Given the description of an element on the screen output the (x, y) to click on. 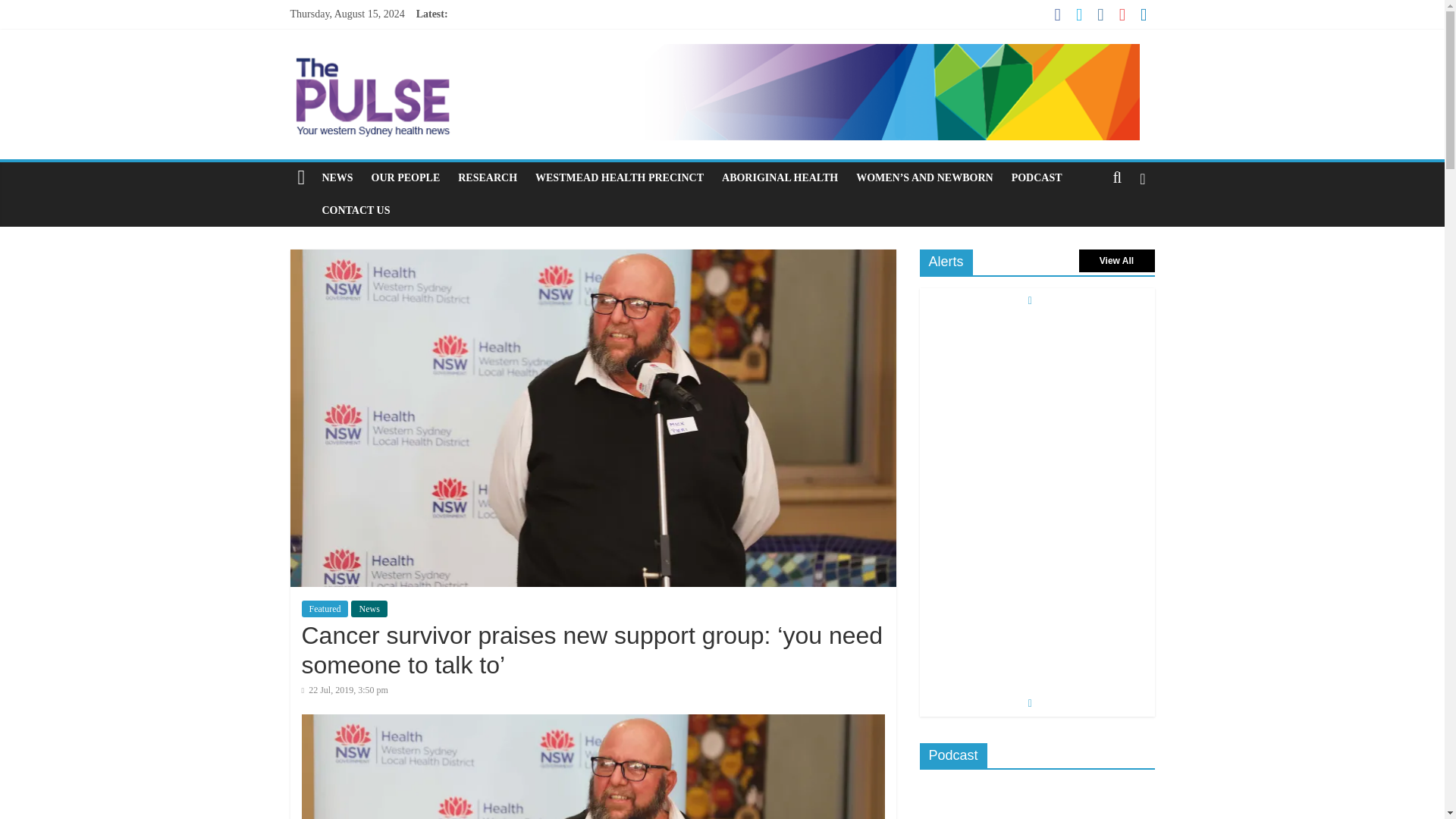
News (368, 608)
ABORIGINAL HEALTH (780, 178)
CONTACT US (355, 210)
OUR PEOPLE (405, 178)
RESEARCH (486, 178)
Featured (325, 608)
NEWS (337, 178)
PODCAST (1037, 178)
WESTMEAD HEALTH PRECINCT (619, 178)
22 Jul, 2019, 3:50 pm (344, 689)
